Given the description of an element on the screen output the (x, y) to click on. 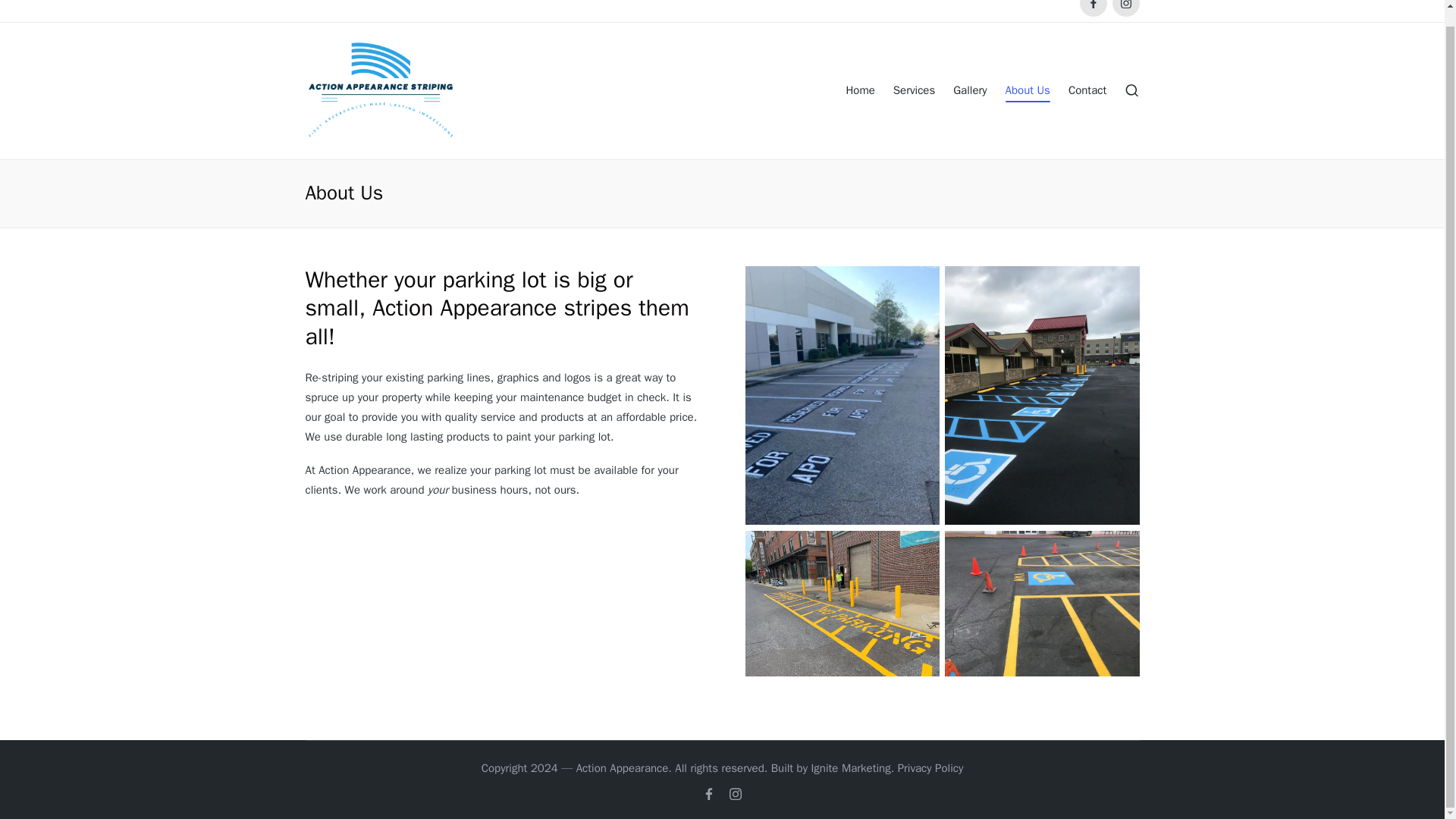
Facebook (708, 793)
Contact (1087, 90)
Home (860, 90)
Privacy Policy (930, 768)
Instagram (735, 793)
Gallery (970, 90)
Facebook (1093, 8)
About Us (1027, 90)
Services (913, 90)
Instagram (1125, 8)
